Given the description of an element on the screen output the (x, y) to click on. 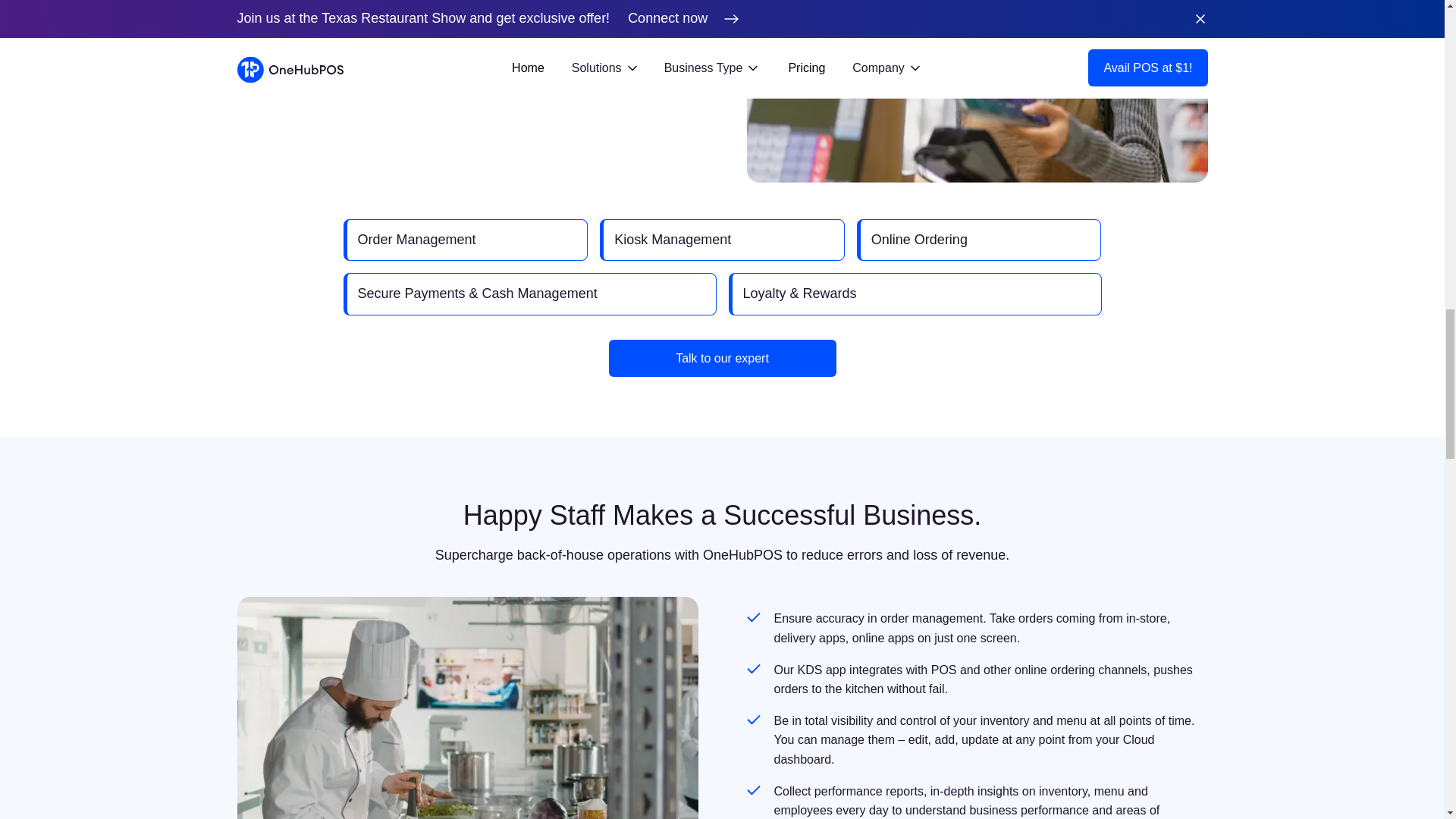
Talk to our expert (721, 357)
